Given the description of an element on the screen output the (x, y) to click on. 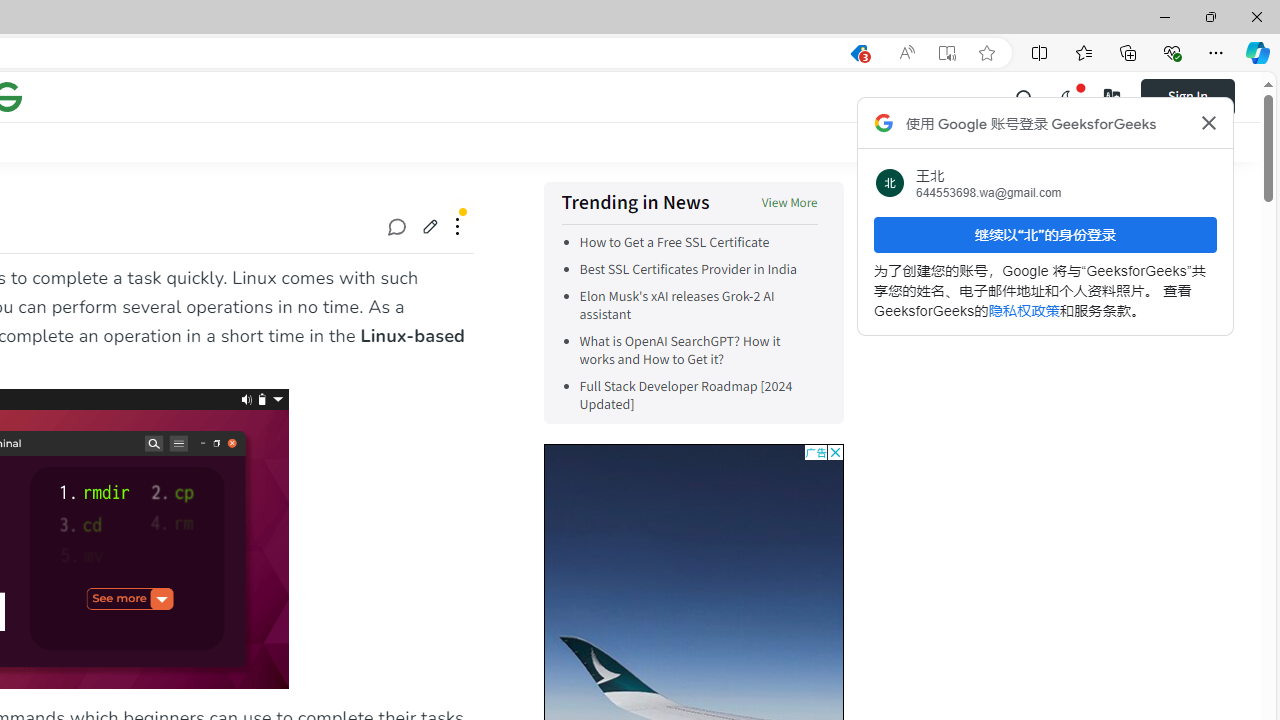
How to Get a Free SSL Certificate (674, 242)
Class: header-main__left-list-item gcse-search_li p-relative (1025, 96)
Elon Musk's xAI releases Grok-2 AI assistant (676, 305)
How to Get a Free SSL Certificate (697, 242)
Class: Bz112c Bz112c-r9oPif (1208, 122)
What is OpenAI SearchGPT? How it works and How to Get it? (697, 350)
Enter Immersive Reader (F9) (946, 53)
Sign In (1187, 96)
Sign In (1200, 96)
